Given the description of an element on the screen output the (x, y) to click on. 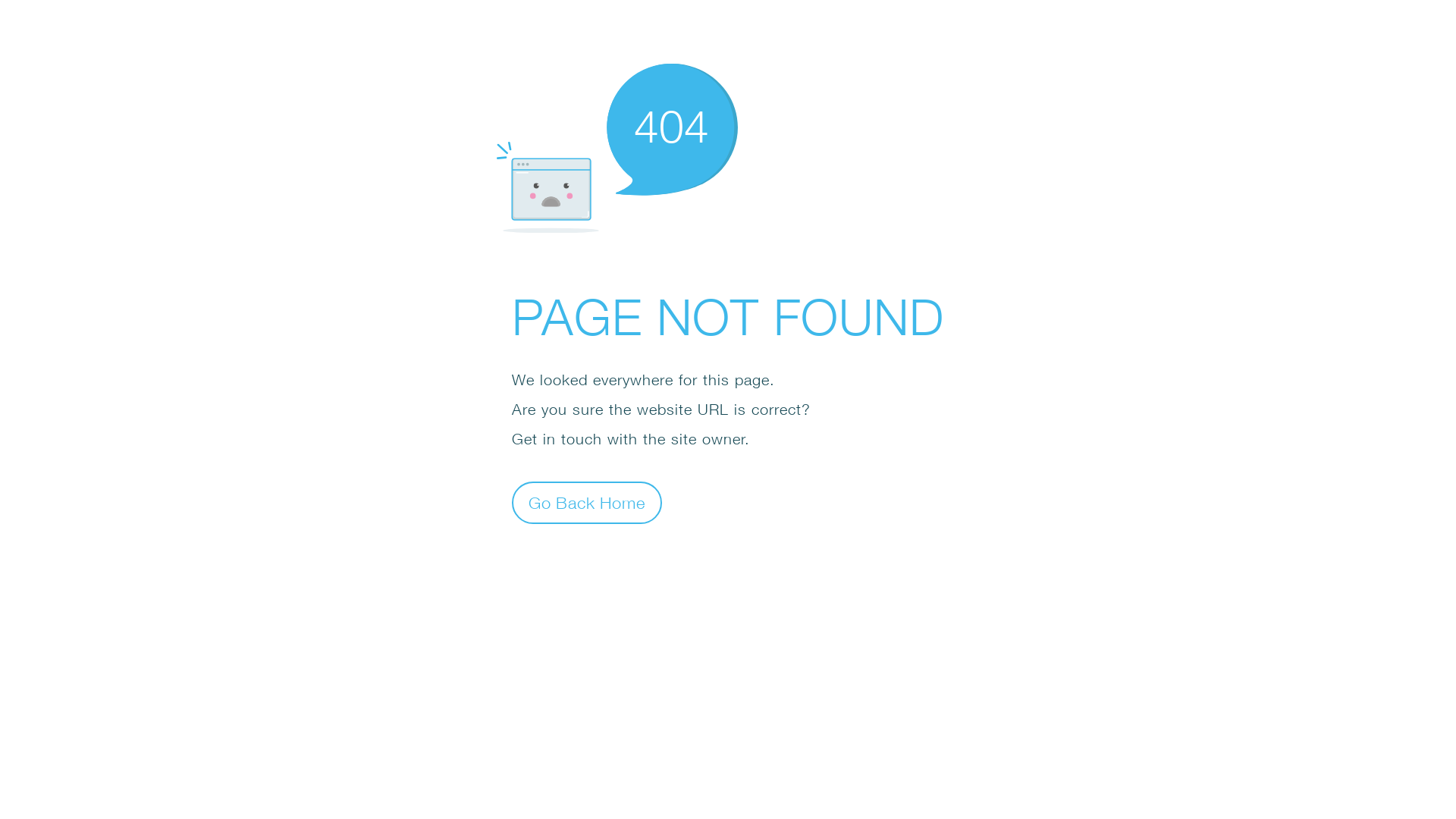
Go Back Home Element type: text (586, 502)
